Given the description of an element on the screen output the (x, y) to click on. 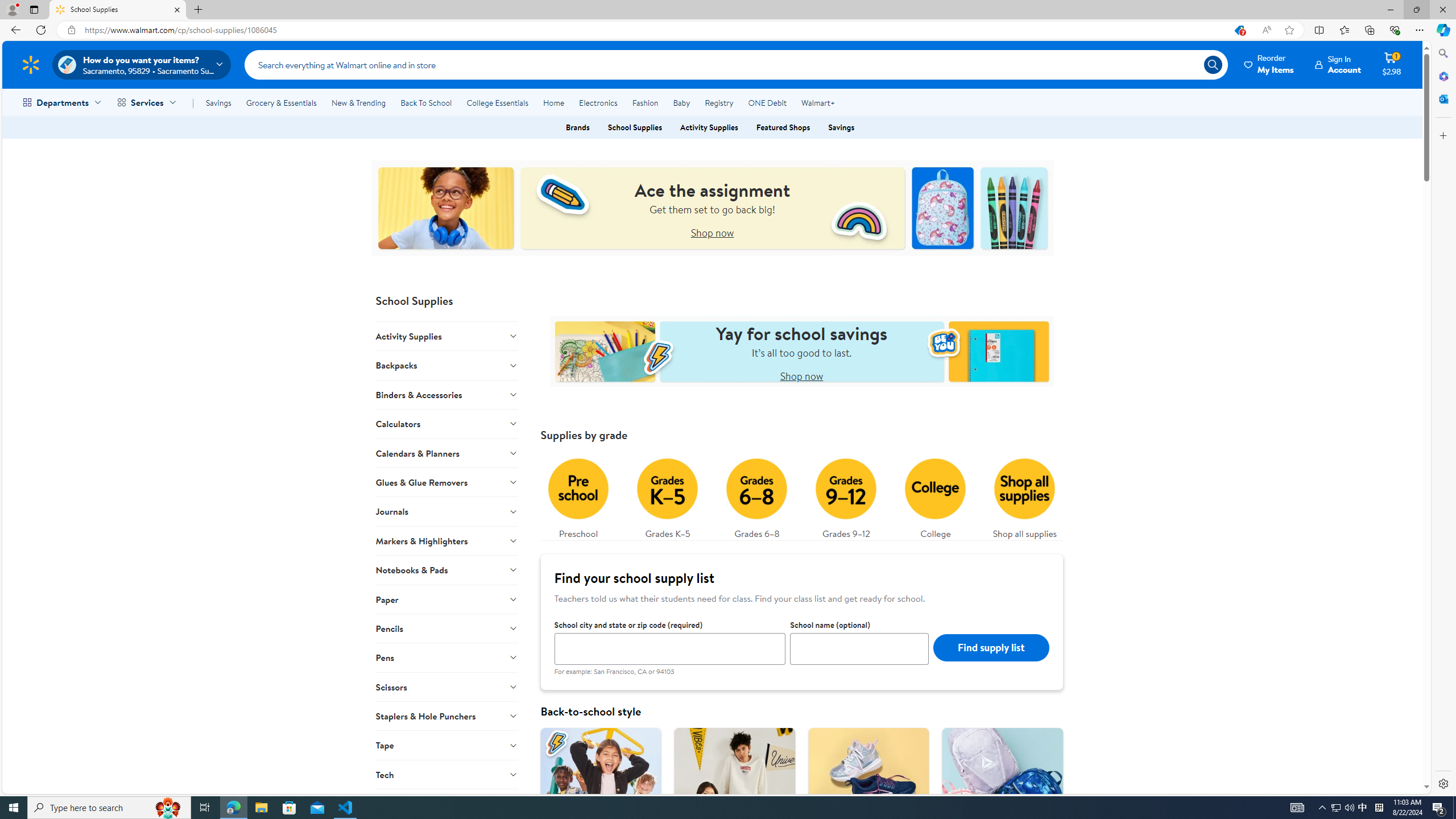
Reorder My Items (1269, 64)
Baby (681, 102)
Savings (840, 126)
Tape (446, 745)
Fashion (644, 102)
ONE Debit (767, 102)
